Given the description of an element on the screen output the (x, y) to click on. 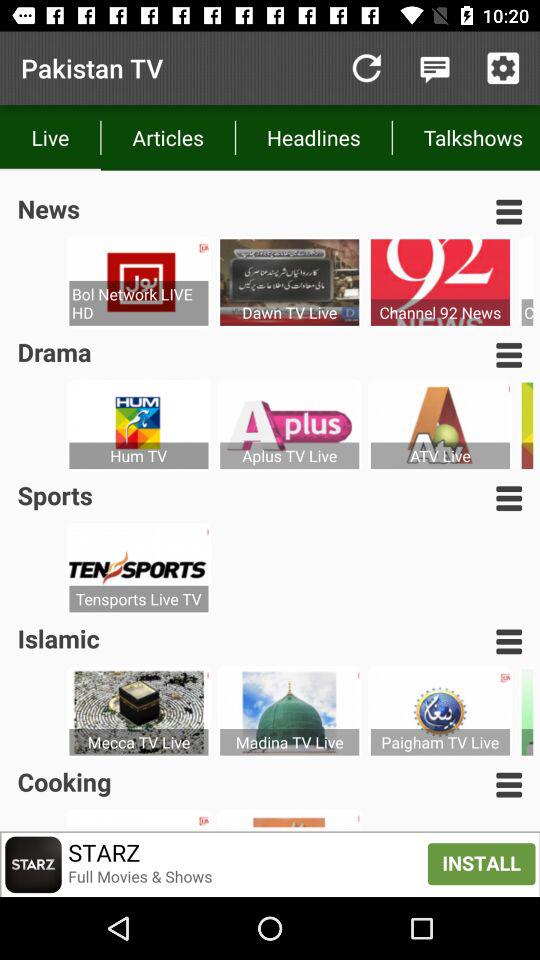
press the icon below sports item (138, 598)
